Given the description of an element on the screen output the (x, y) to click on. 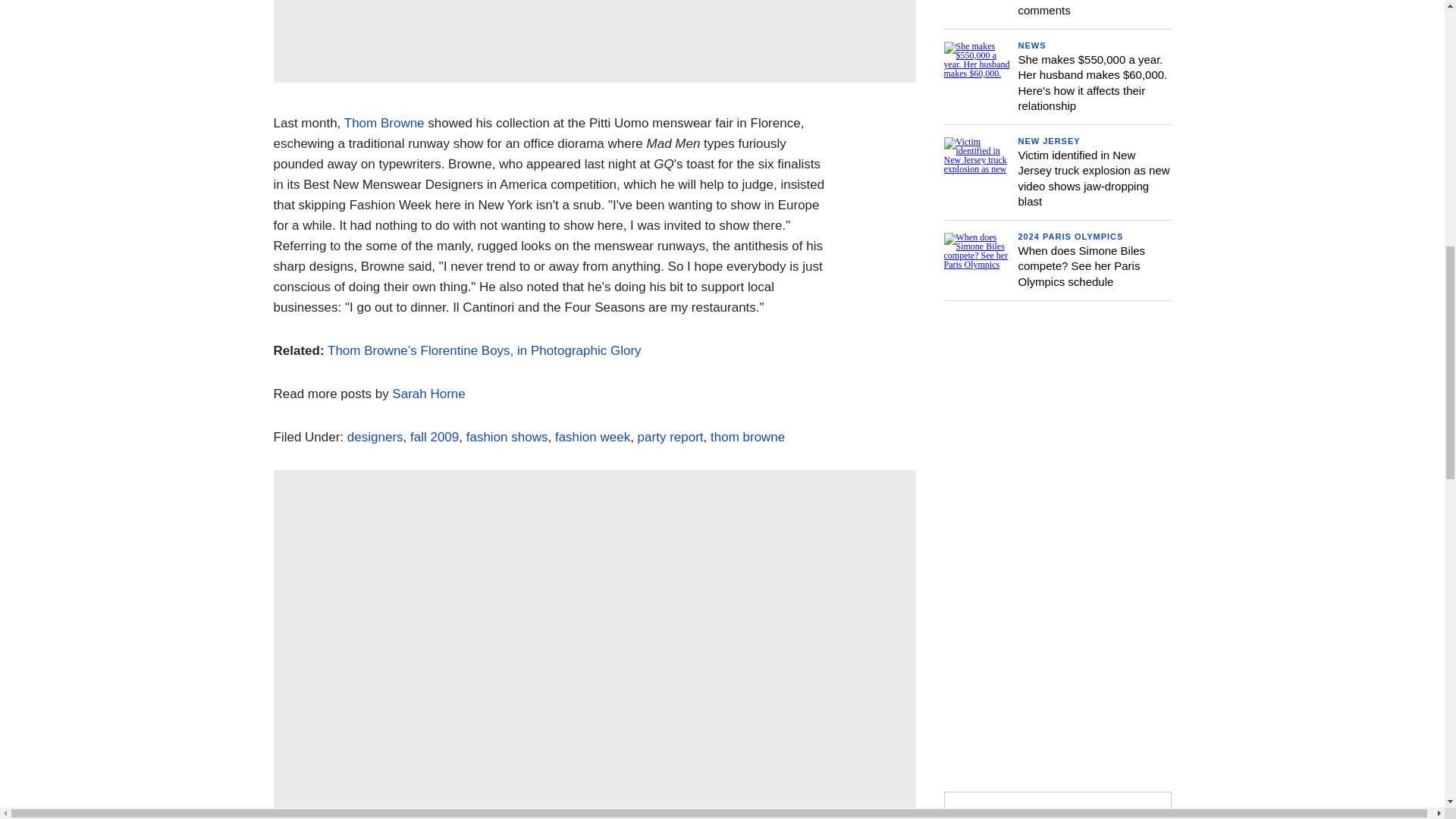
Read all posts tagged 'fashion week' (592, 436)
fashion week (592, 436)
thom browne (747, 436)
Sarah Horne (427, 393)
Read all posts tagged 'party report' (670, 436)
fashion shows (506, 436)
party report (670, 436)
Thom Browne (384, 123)
Read all posts tagged 'fall 2009' (434, 436)
Read all posts tagged 'thom browne' (747, 436)
designers (375, 436)
fall 2009 (434, 436)
Read all posts tagged 'designers' (375, 436)
Read all posts tagged 'fashion shows' (506, 436)
